Given the description of an element on the screen output the (x, y) to click on. 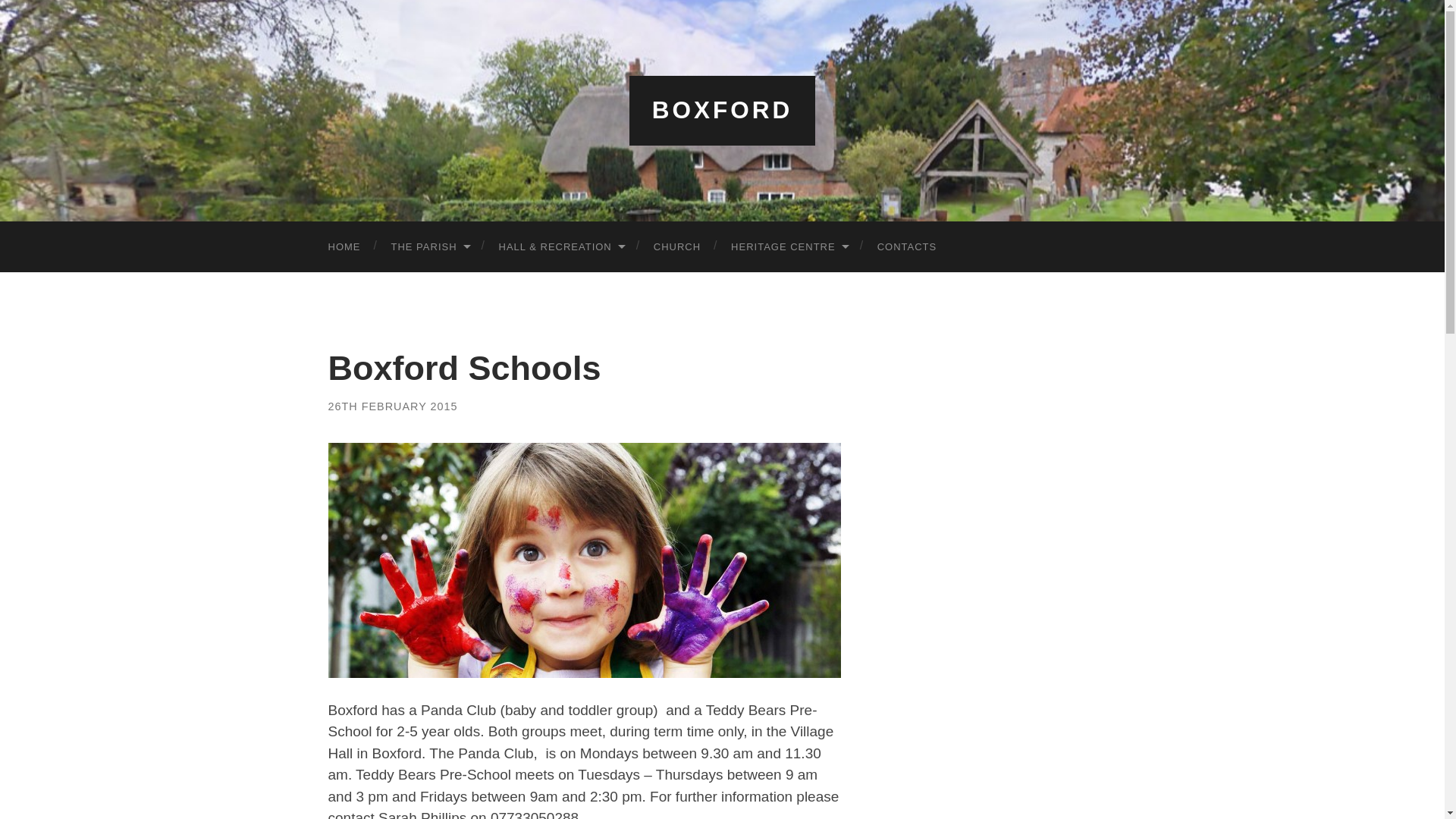
HOME (344, 246)
CONTACTS (906, 246)
BOXFORD (722, 109)
THE PARISH (429, 246)
CHURCH (677, 246)
26TH FEBRUARY 2015 (392, 406)
HERITAGE CENTRE (788, 246)
